Given the description of an element on the screen output the (x, y) to click on. 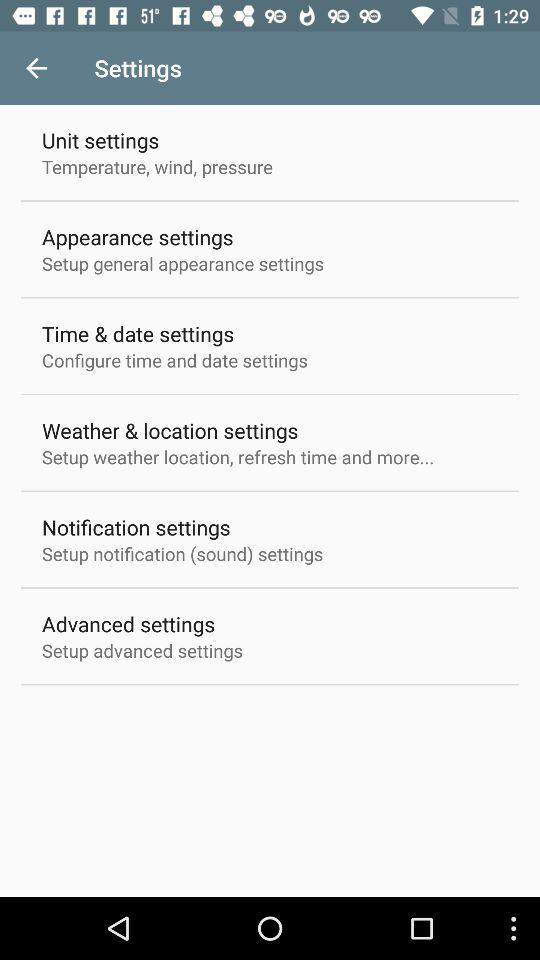
press the item to the left of the settings icon (36, 68)
